Given the description of an element on the screen output the (x, y) to click on. 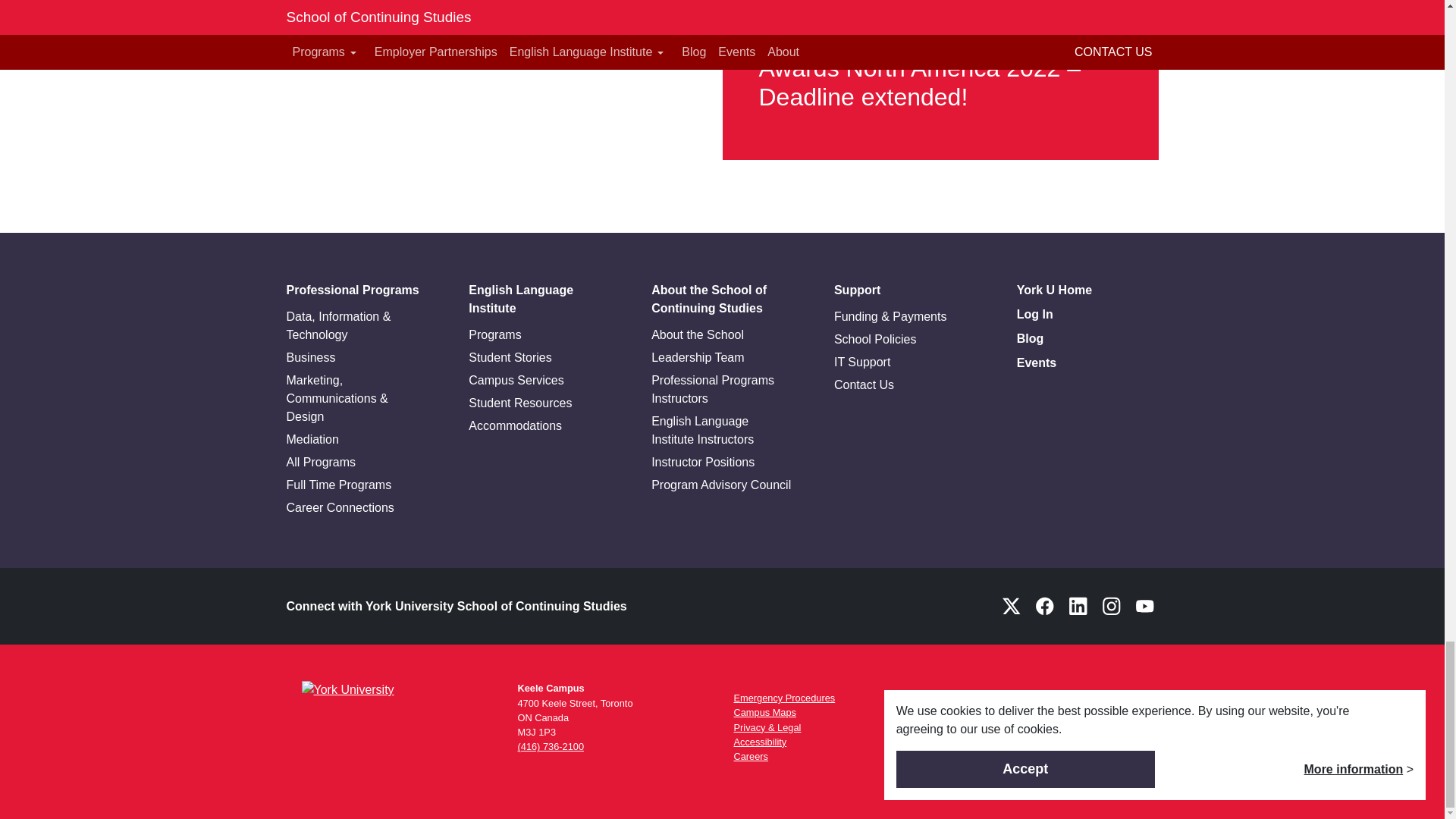
Facebook (1044, 605)
LinkedIn (1078, 605)
Twitter (1011, 605)
YouTube (1144, 605)
Instagram (1111, 605)
